Given the description of an element on the screen output the (x, y) to click on. 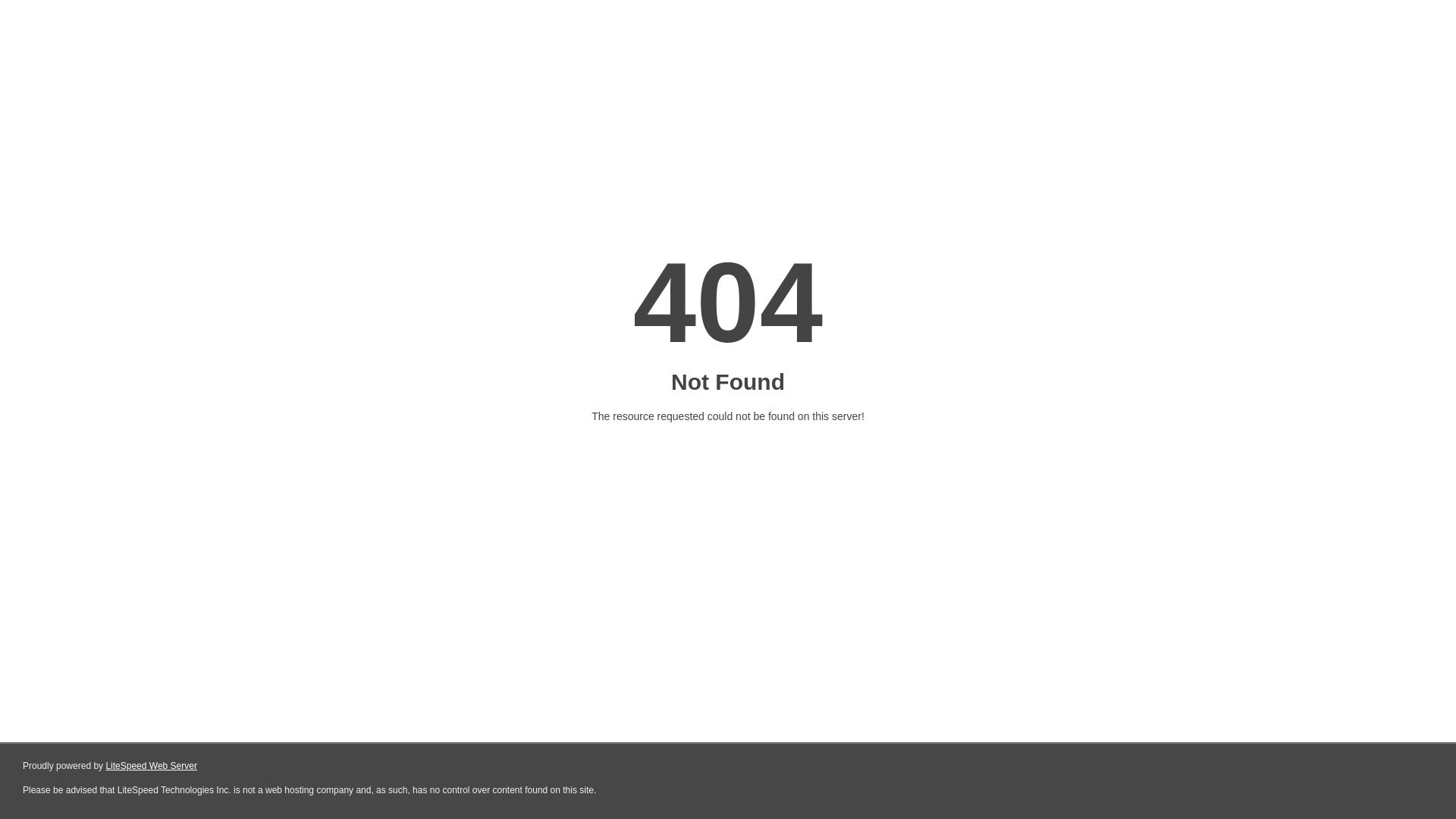
LiteSpeed Web Server Element type: text (151, 765)
